Given the description of an element on the screen output the (x, y) to click on. 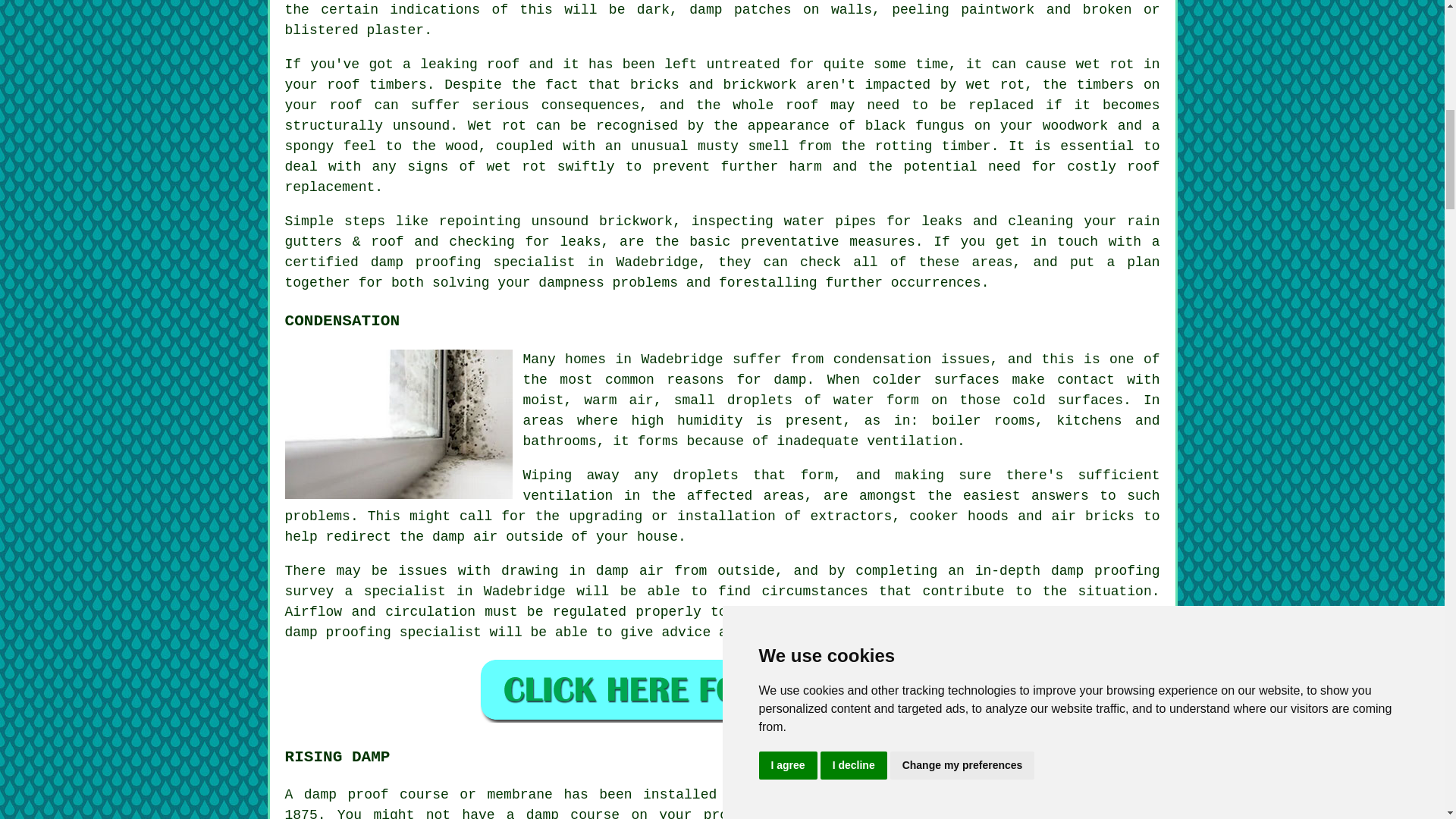
condensation (881, 359)
wet rot (995, 84)
damp proofing (426, 262)
Damp Proofing Quotes in Wadebridge Cornwall (722, 689)
damp proofing survey (722, 580)
